Given the description of an element on the screen output the (x, y) to click on. 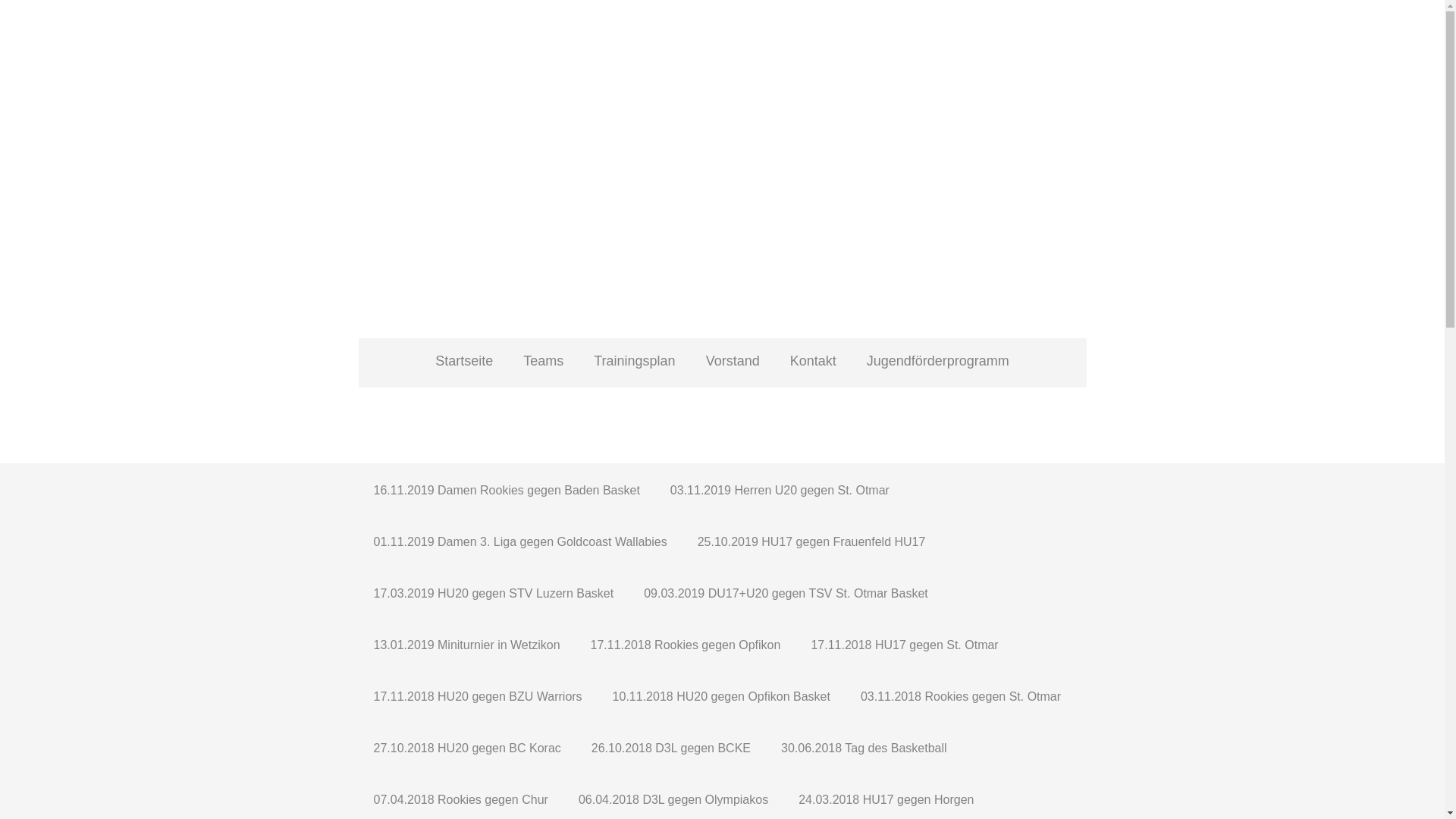
Teams Element type: text (543, 363)
13.01.2019 Miniturnier in Wetzikon Element type: text (465, 643)
17.03.2019 HU20 gegen STV Luzern Basket Element type: text (492, 592)
17.11.2018 HU17 gegen St. Otmar Element type: text (904, 643)
Trainingsplan Element type: text (634, 363)
17.11.2018 Rookies gegen Opfikon Element type: text (685, 643)
03.11.2019 Herren U20 gegen St. Otmar Element type: text (779, 488)
Vorstand Element type: text (732, 363)
30.06.2018 Tag des Basketball Element type: text (863, 746)
17.11.2018 HU20 gegen BZU Warriors Element type: text (476, 695)
Kontakt Element type: text (813, 363)
27.10.2018 HU20 gegen BC Korac Element type: text (466, 746)
Startseite Element type: text (464, 363)
01.11.2019 Damen 3. Liga gegen Goldcoast Wallabies Element type: text (519, 540)
10.11.2018 HU20 gegen Opfikon Basket Element type: text (721, 695)
03.11.2018 Rookies gegen St. Otmar Element type: text (960, 695)
16.11.2019 Damen Rookies gegen Baden Basket Element type: text (505, 488)
26.10.2018 D3L gegen BCKE Element type: text (670, 746)
25.10.2019 HU17 gegen Frauenfeld HU17 Element type: text (811, 540)
09.03.2019 DU17+U20 gegen TSV St. Otmar Basket Element type: text (785, 592)
